Given the description of an element on the screen output the (x, y) to click on. 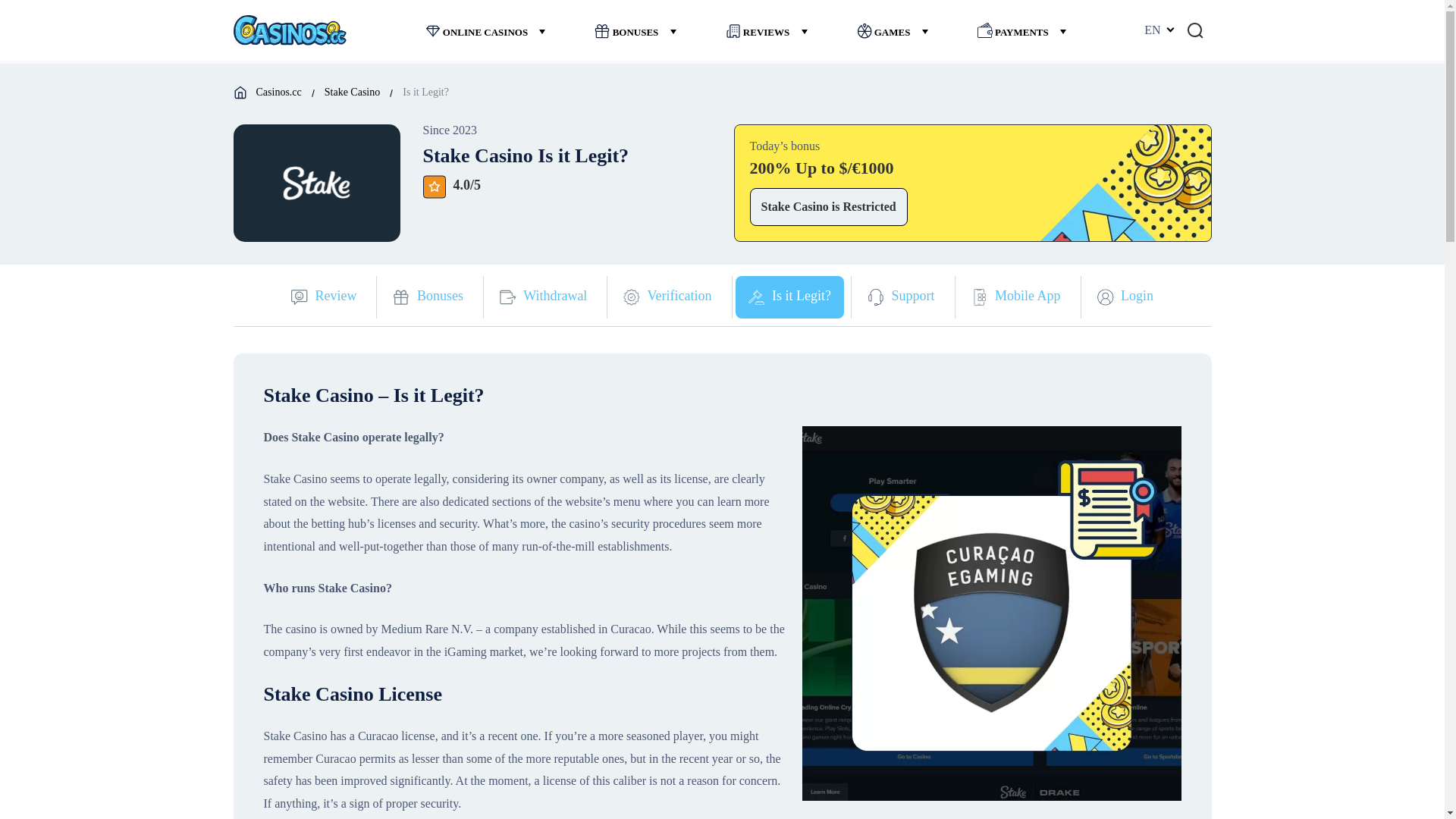
Go to Stake Casino. (352, 91)
EN (1158, 29)
Go to Casinos.cc. (278, 91)
